Given the description of an element on the screen output the (x, y) to click on. 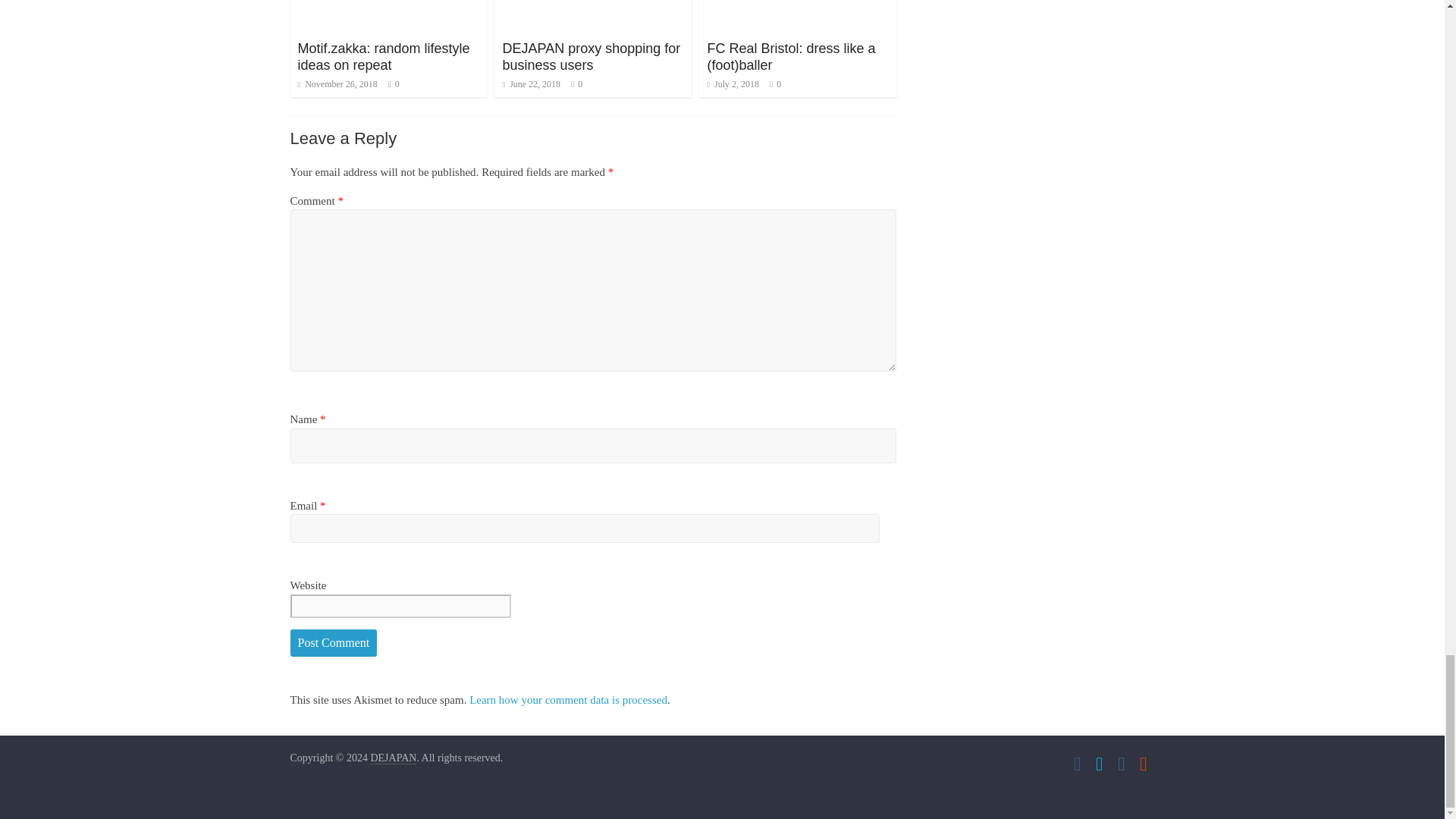
DEJAPAN proxy shopping for business users (590, 56)
00:00 (337, 83)
Motif.zakka: random lifestyle ideas on repeat (382, 56)
08:39 (531, 83)
Post Comment (333, 642)
